Given the description of an element on the screen output the (x, y) to click on. 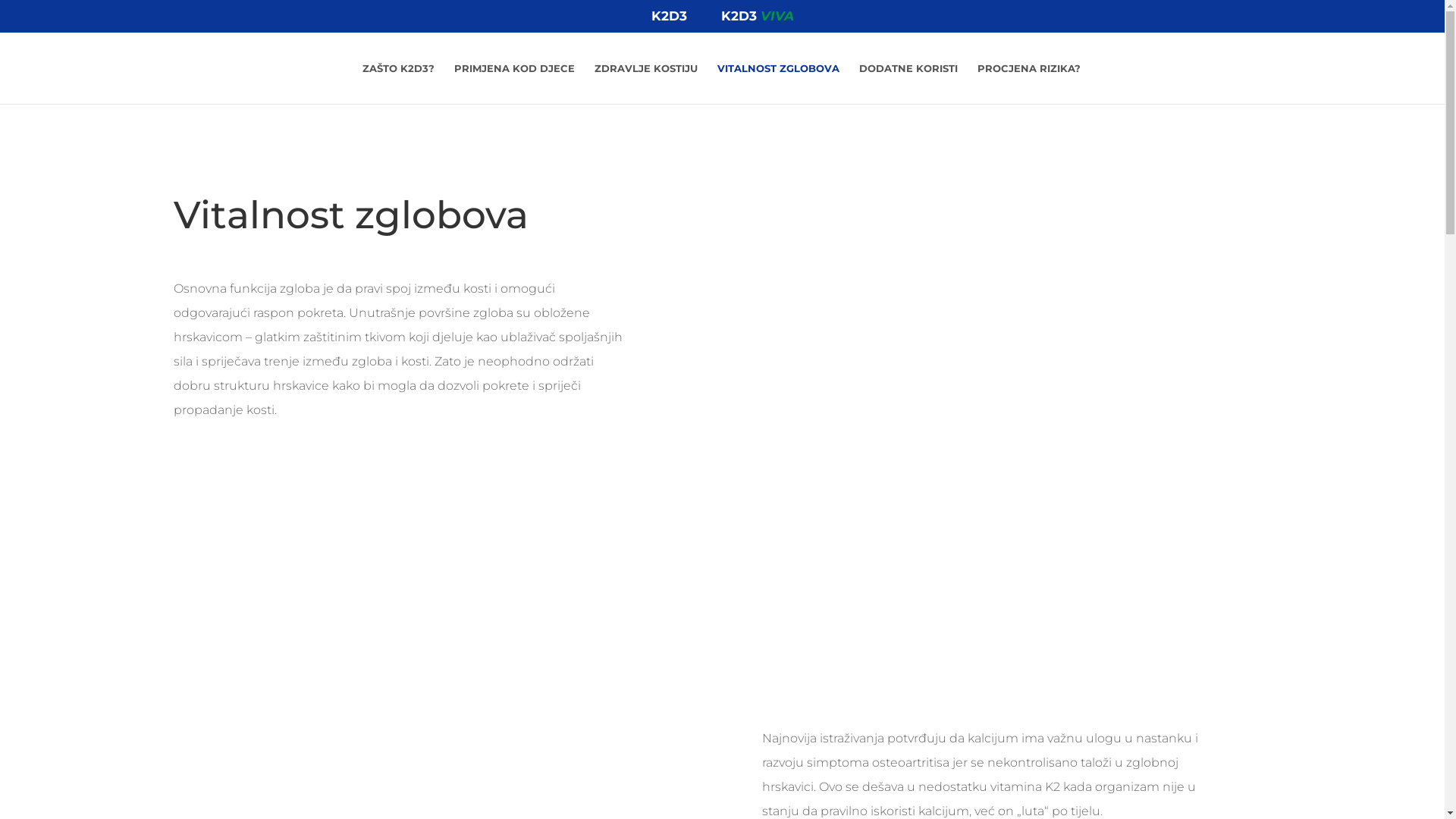
DODATNE KORISTI Element type: text (908, 82)
ZDRAVLJE KOSTIJU Element type: text (645, 82)
VITALNOST ZGLOBOVA Element type: text (778, 82)
K2D3 Element type: text (668, 20)
K2D3 VIVA Element type: text (756, 20)
PRIMJENA KOD DJECE Element type: text (514, 82)
PROCJENA RIZIKA? Element type: text (1028, 82)
